Given the description of an element on the screen output the (x, y) to click on. 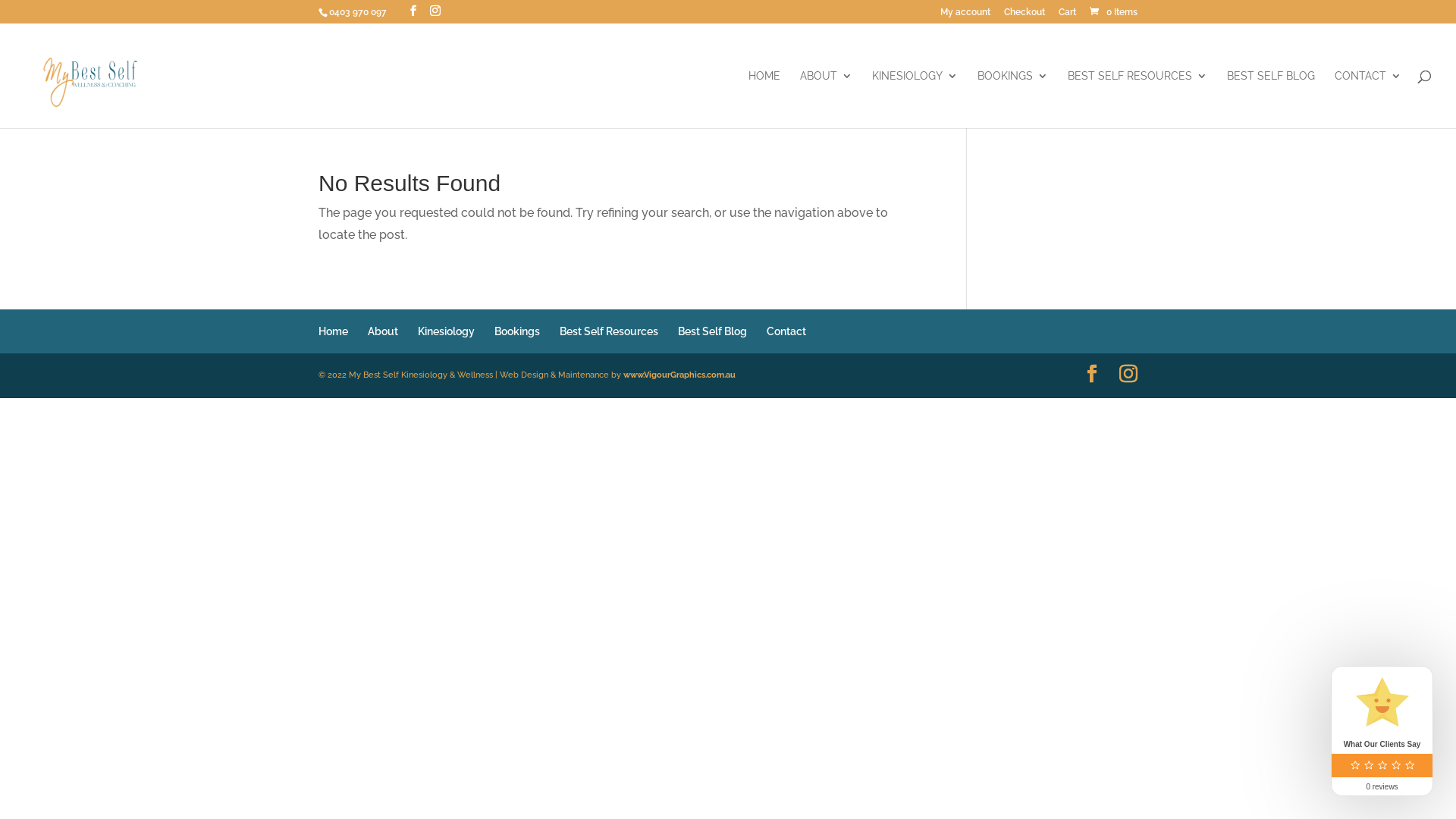
CONTACT Element type: text (1367, 99)
KINESIOLOGY Element type: text (914, 99)
ABOUT Element type: text (826, 99)
www.VigourGraphics.com.au Element type: text (679, 374)
Best Self Blog Element type: text (711, 331)
Best Self Resources Element type: text (608, 331)
My account Element type: text (965, 15)
HOME Element type: text (764, 99)
About Element type: text (382, 331)
BOOKINGS Element type: text (1012, 99)
Checkout Element type: text (1024, 15)
BEST SELF BLOG Element type: text (1270, 99)
0 Items Element type: text (1112, 11)
Home Element type: text (333, 331)
Kinesiology Element type: text (445, 331)
Contact Element type: text (786, 331)
Cart Element type: text (1067, 15)
BEST SELF RESOURCES Element type: text (1137, 99)
Bookings Element type: text (516, 331)
